Given the description of an element on the screen output the (x, y) to click on. 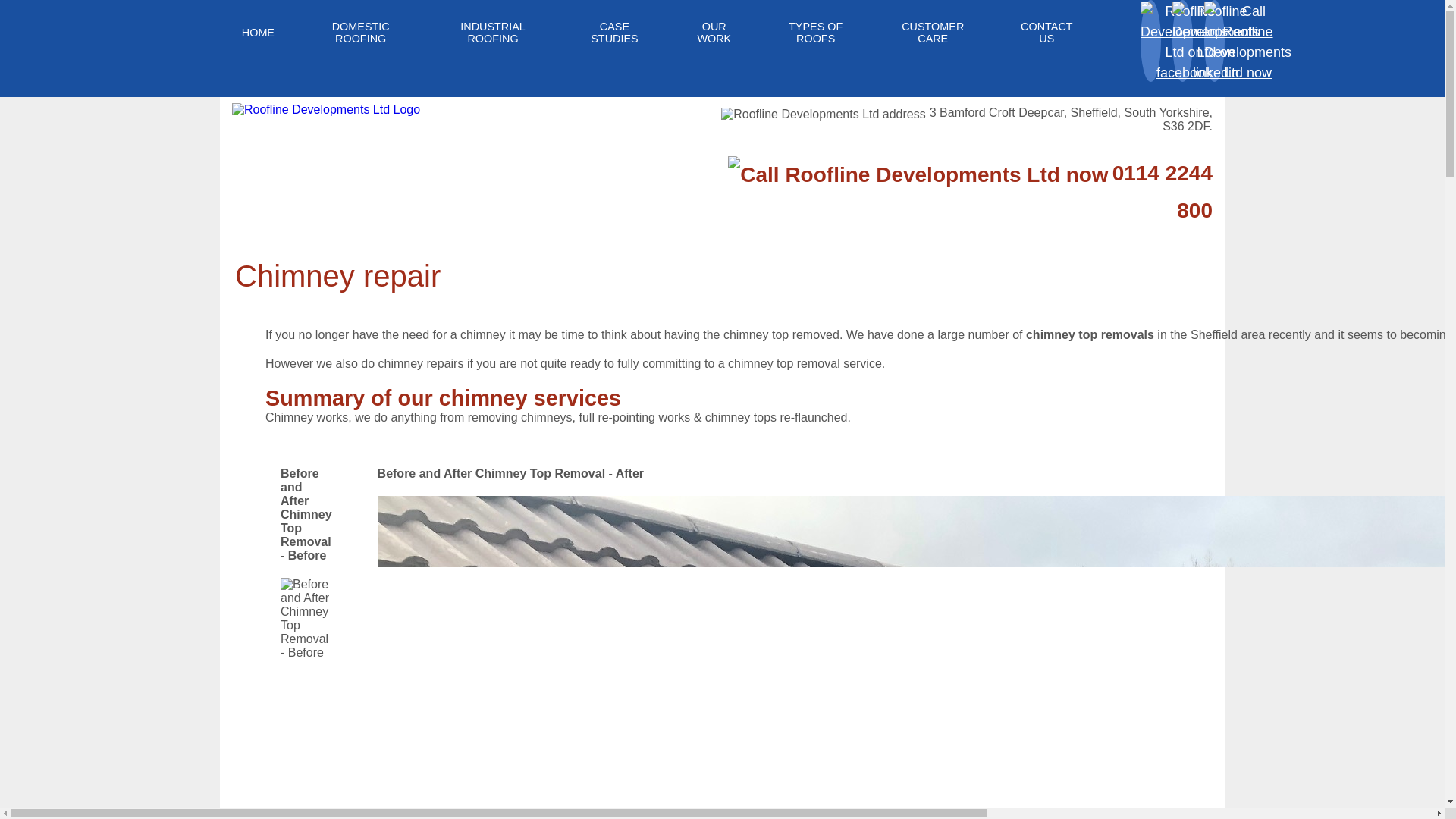
0114 2244 800 (1162, 191)
Roofline Developments Ltd on linkedin (1215, 70)
CASE STUDIES (614, 33)
Roofline Developments Ltd on facebook (1183, 70)
TYPES OF ROOFS (815, 33)
OUR WORK (714, 33)
INDUSTRIAL ROOFING (492, 33)
Before and After Chimney Top Removal - Before (306, 652)
DOMESTIC ROOFING (361, 33)
CONTACT US (1046, 33)
Call Roofline Developments Ltd now (1247, 70)
CUSTOMER CARE (932, 33)
HOME (258, 32)
